Given the description of an element on the screen output the (x, y) to click on. 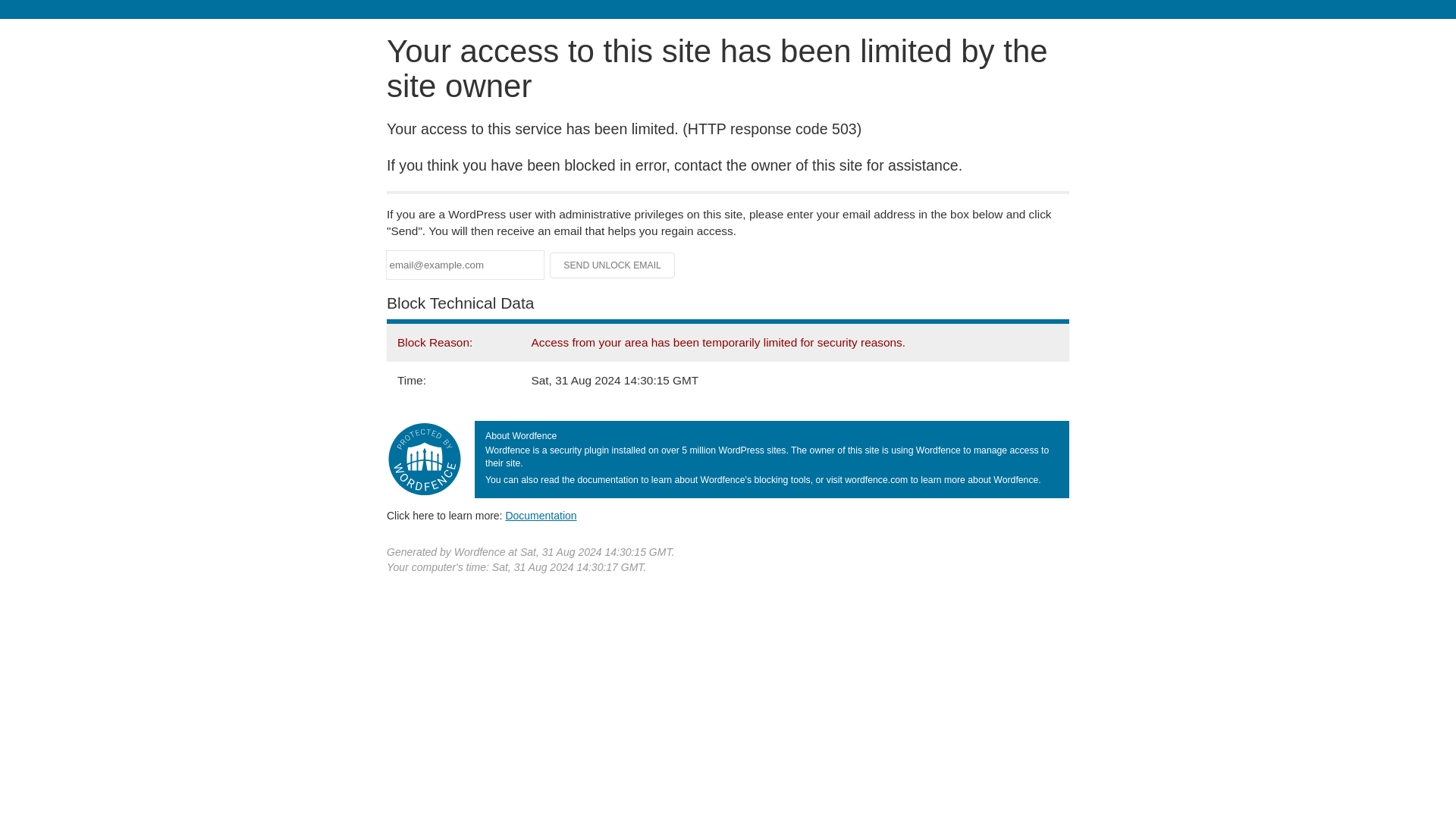
Send Unlock Email (612, 265)
Documentation (540, 515)
Send Unlock Email (612, 265)
